Given the description of an element on the screen output the (x, y) to click on. 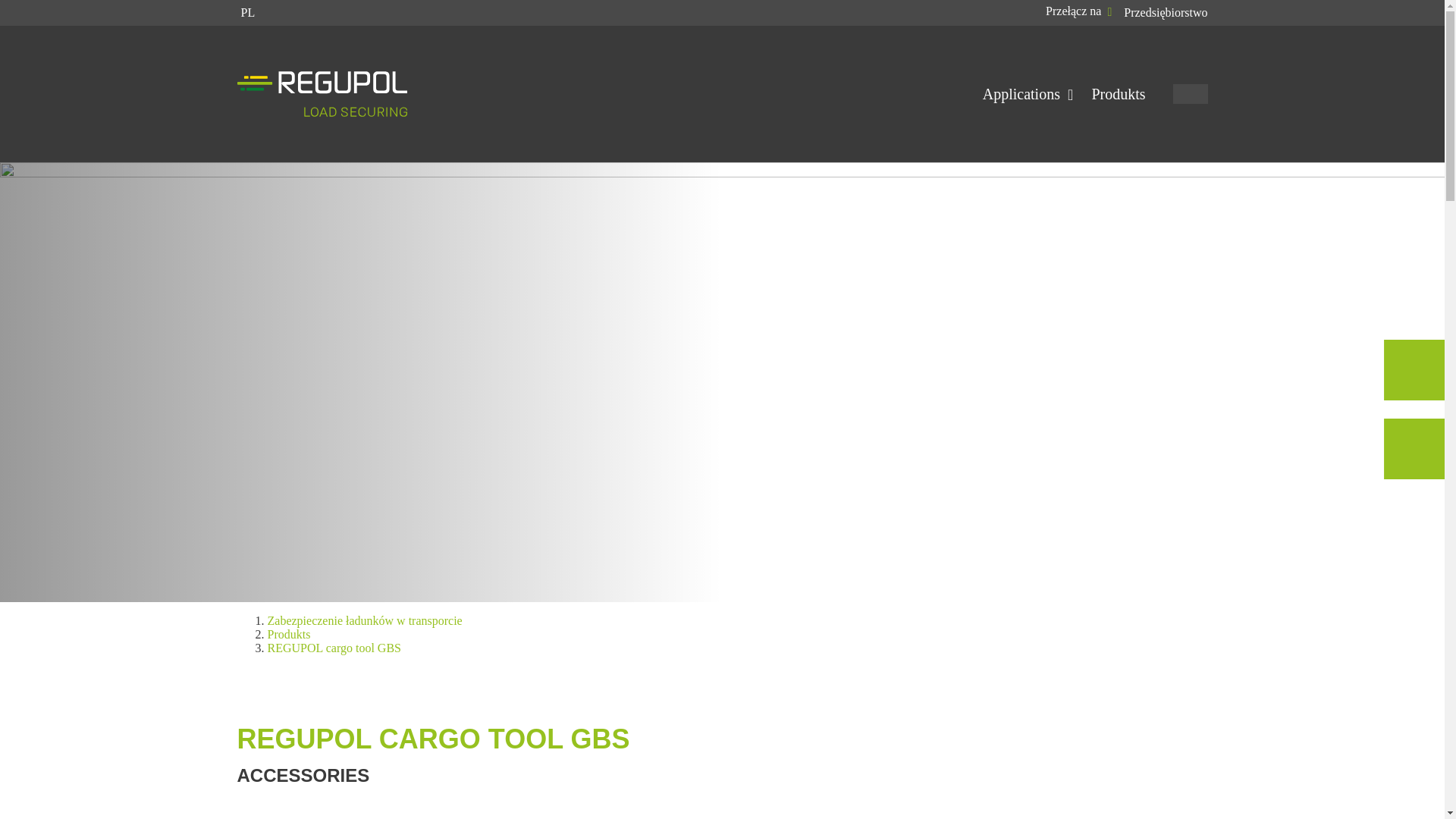
Produkts (1117, 93)
Produkts (288, 634)
PL (244, 11)
Applications (1028, 93)
